Given the description of an element on the screen output the (x, y) to click on. 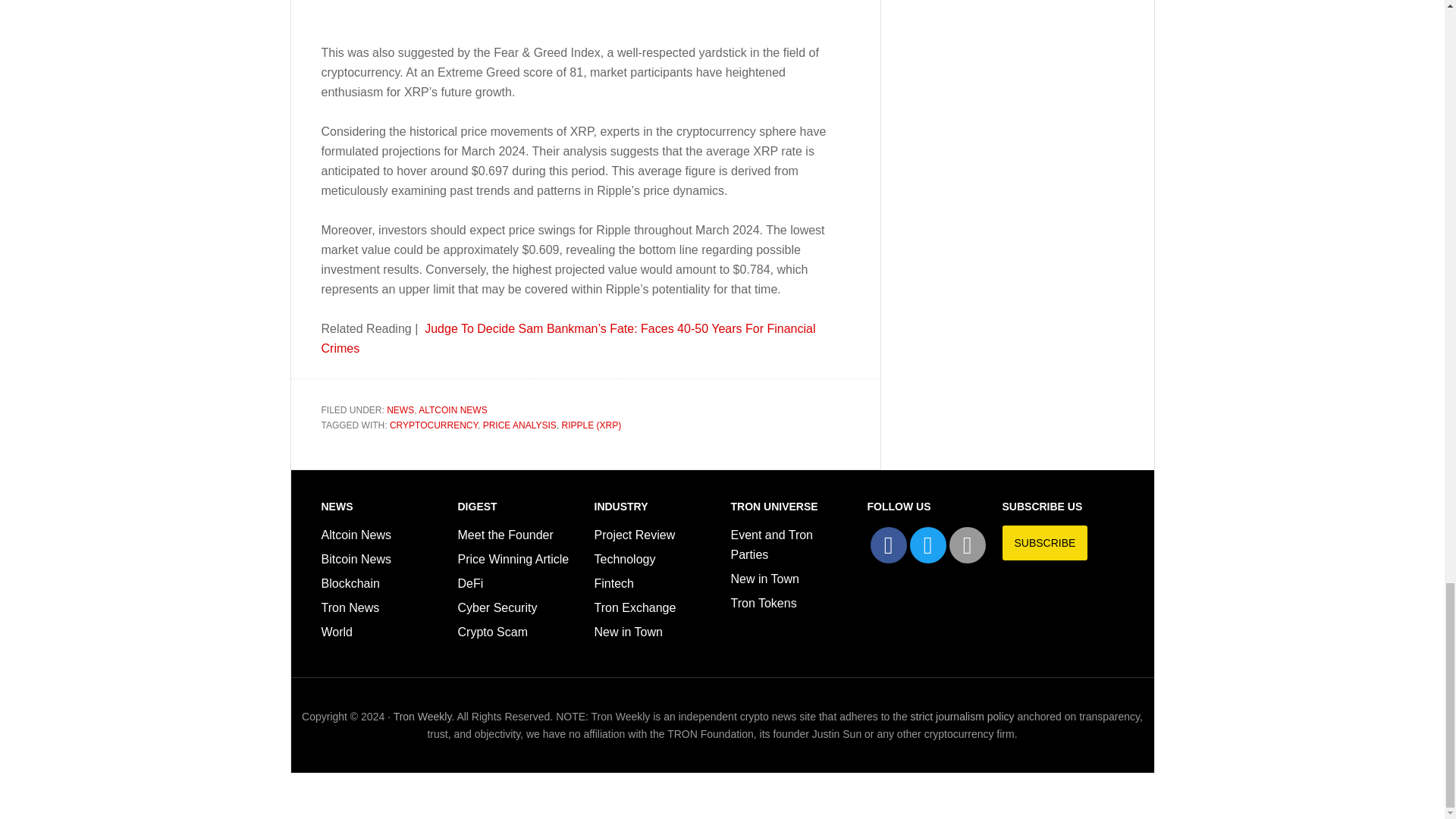
Twitter (928, 545)
ALTCOIN NEWS (452, 389)
Telegram (967, 545)
PRICE ANALYSIS (519, 405)
CRYPTOCURRENCY (433, 405)
NEWS (400, 389)
Facebook (888, 545)
